Given the description of an element on the screen output the (x, y) to click on. 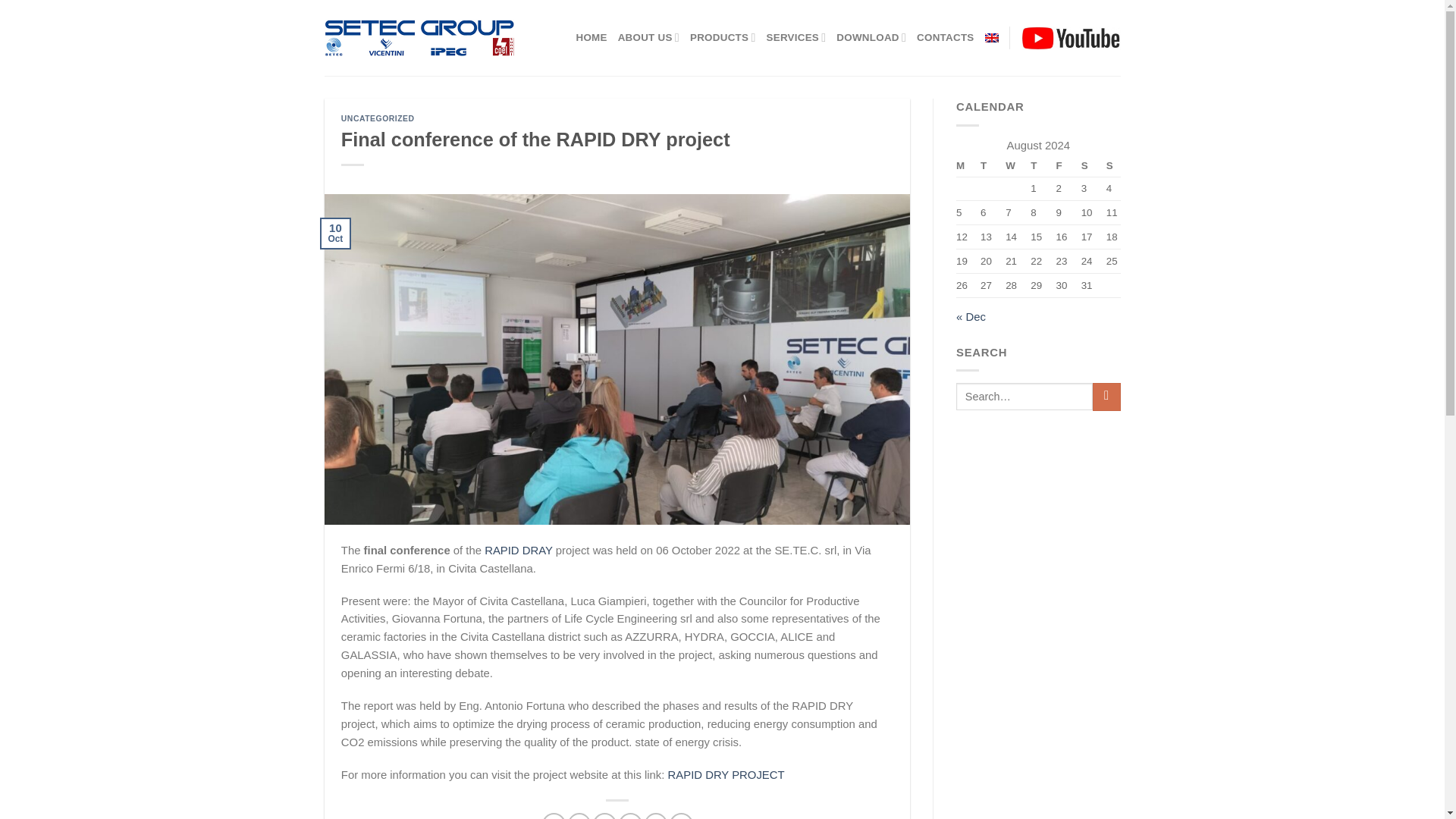
Sunday (1109, 165)
SERVICES (795, 37)
RAPID DRY PROJECT (726, 775)
Monday (965, 165)
Share on LinkedIn (681, 816)
Wednesday (1012, 165)
Pin on Pinterest (630, 816)
CONTACTS (945, 37)
Share on Facebook (553, 816)
Tuesday (987, 165)
